Given the description of an element on the screen output the (x, y) to click on. 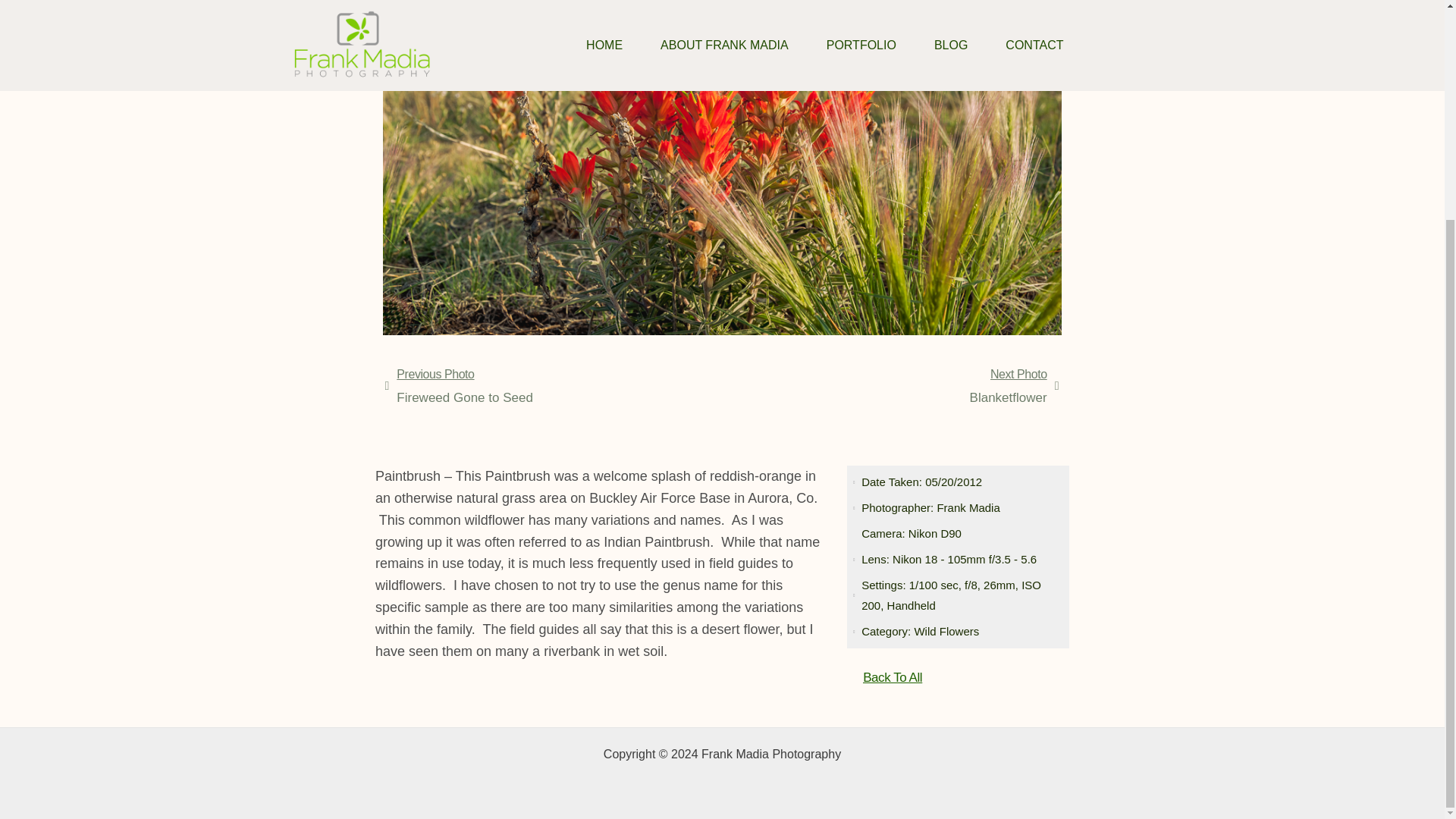
Back To All (892, 677)
Wild Flowers (946, 631)
